Given the description of an element on the screen output the (x, y) to click on. 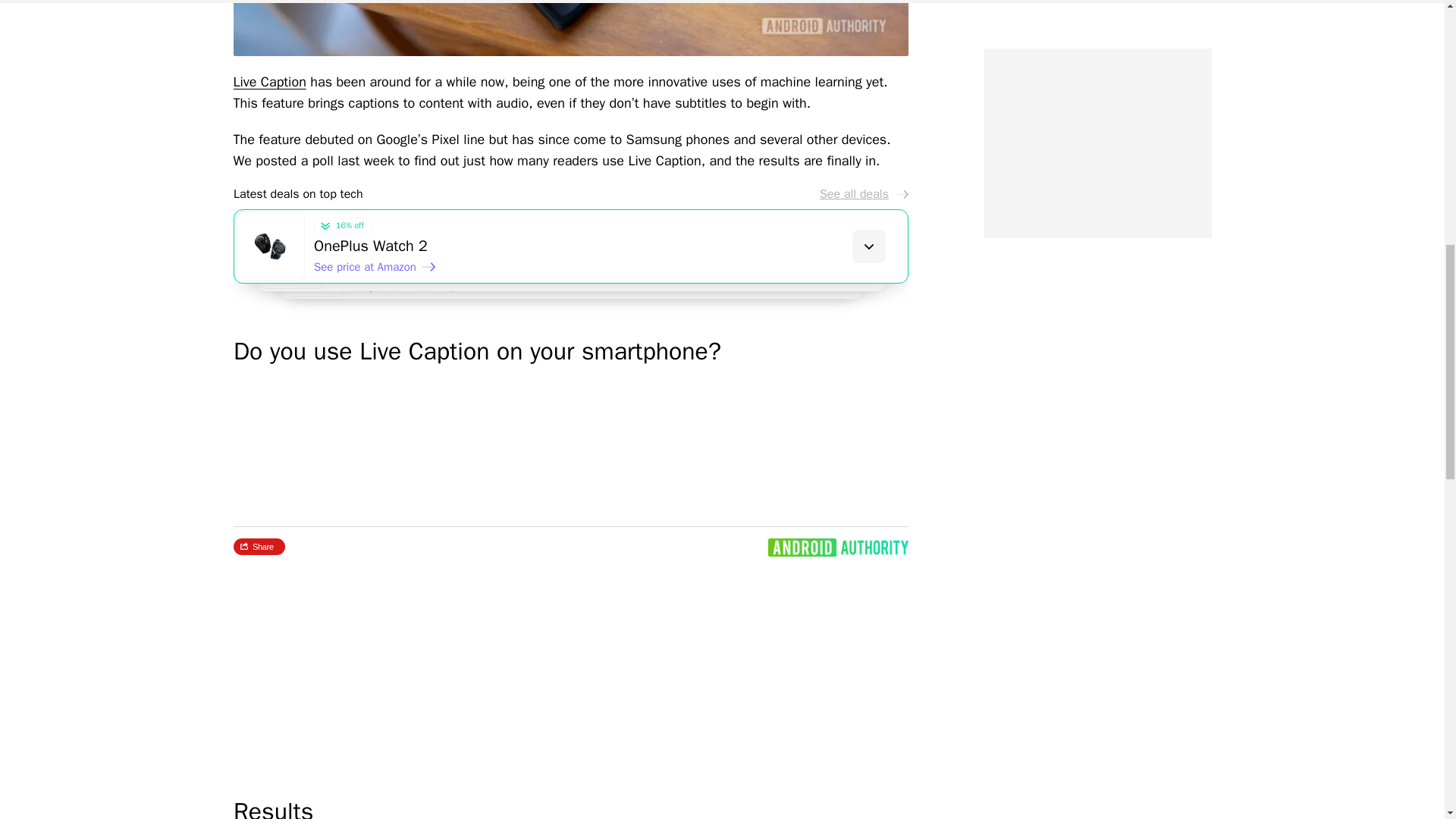
Live Caption (268, 81)
See all deals (862, 193)
OnePlus Watch 2 (609, 246)
See price at Amazon (409, 291)
See price at Amazon (391, 279)
pixel 6 live caption (570, 28)
See price at Amazon (374, 266)
